Given the description of an element on the screen output the (x, y) to click on. 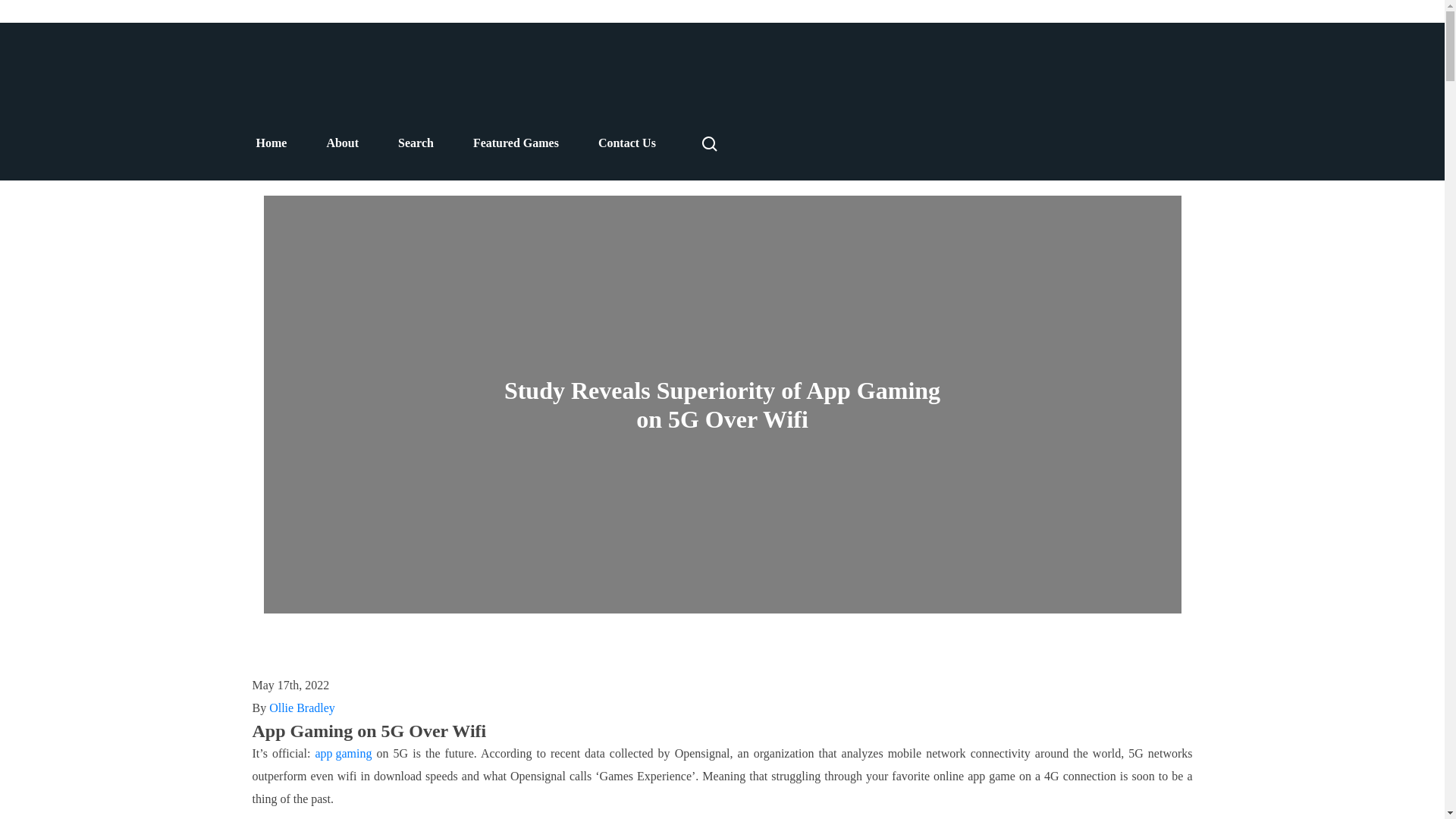
Featured Games (516, 143)
Contact Us (627, 143)
app gaming (342, 753)
Home (271, 143)
Ollie Bradley (301, 707)
Search (415, 143)
About (342, 143)
